Given the description of an element on the screen output the (x, y) to click on. 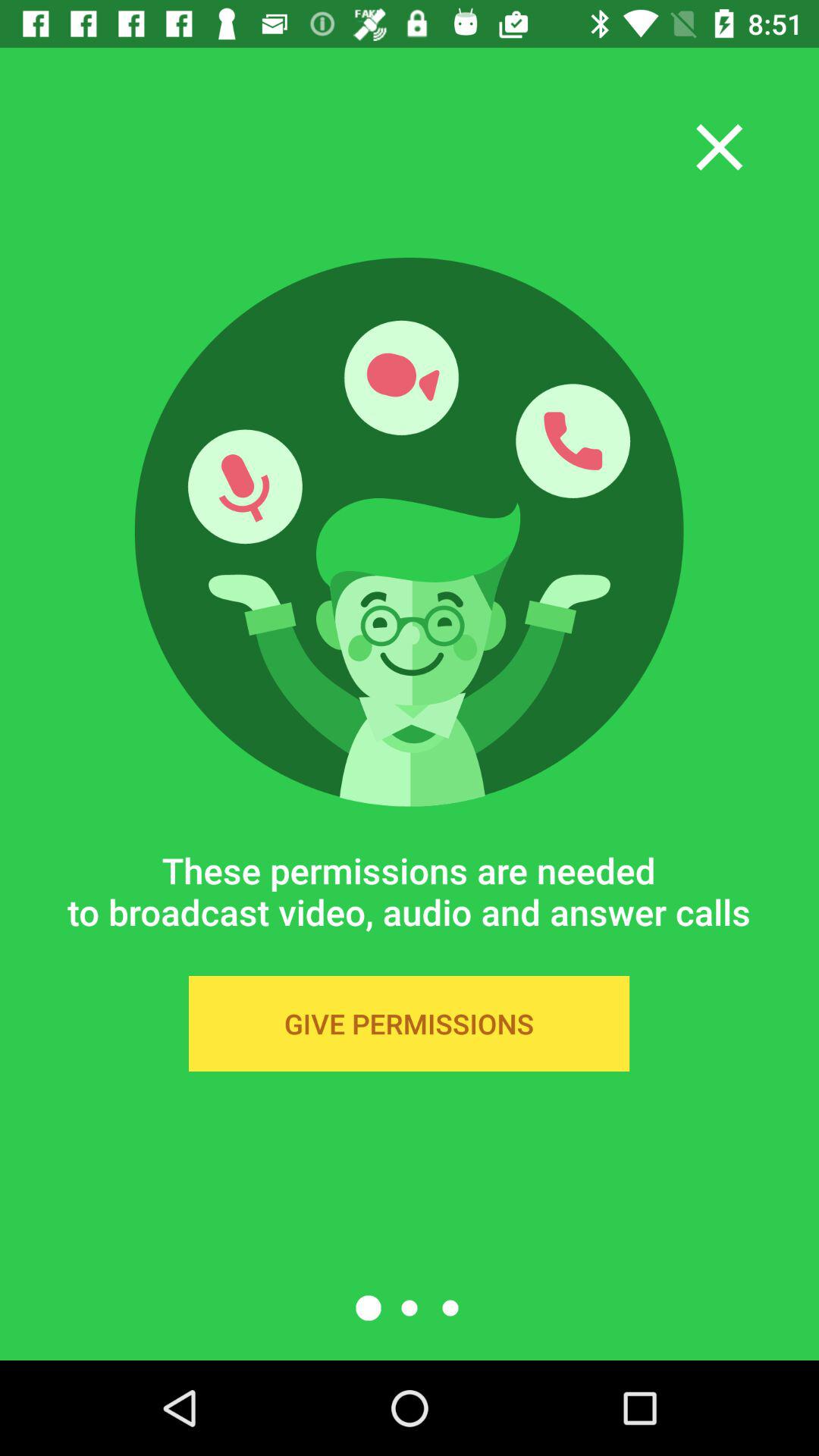
tap the give permissions item (408, 1023)
